Given the description of an element on the screen output the (x, y) to click on. 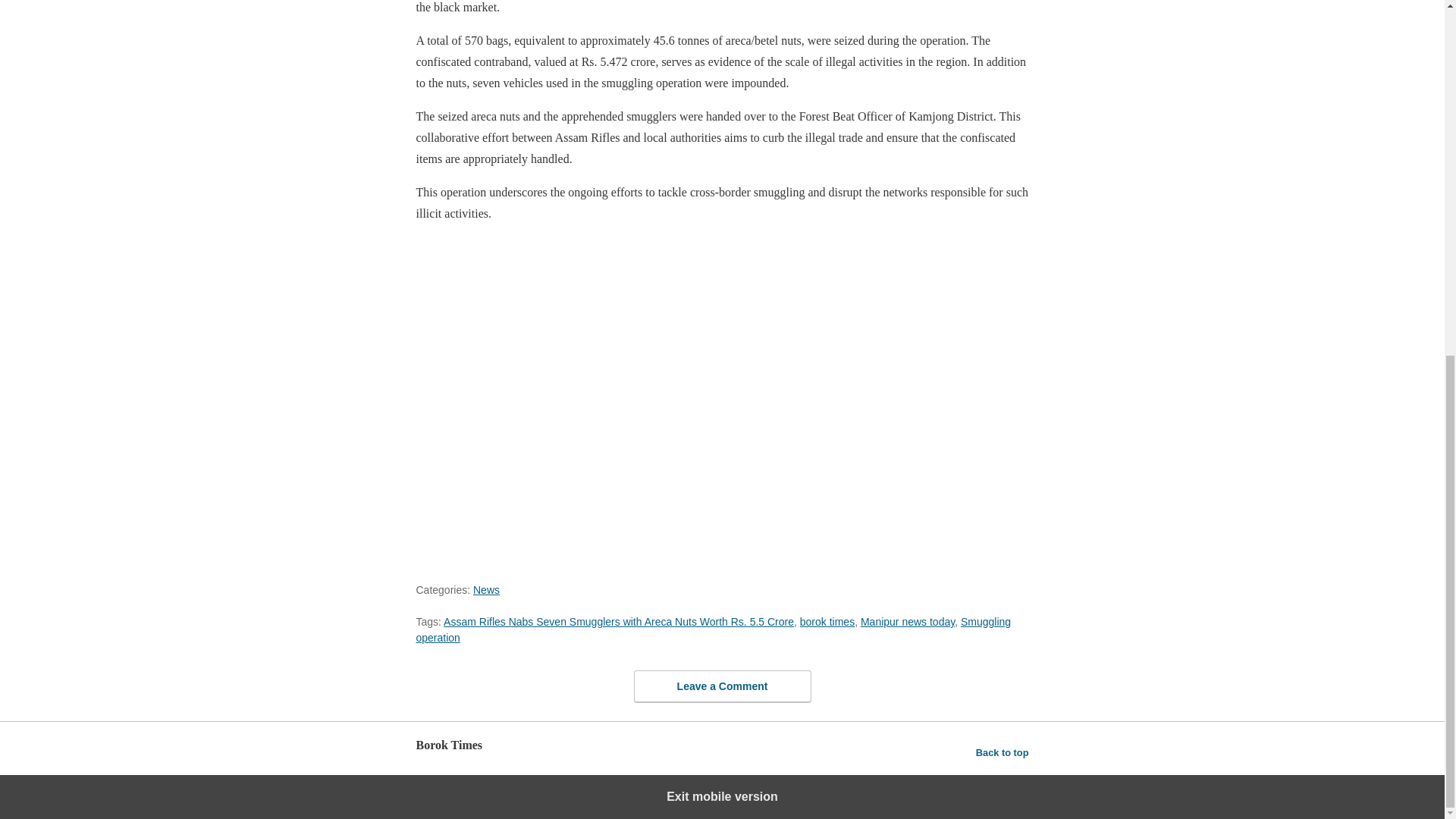
borok times (826, 621)
Back to top (1002, 752)
Smuggling operation (712, 629)
News (486, 589)
Leave a Comment (721, 686)
Manipur news today (907, 621)
